Given the description of an element on the screen output the (x, y) to click on. 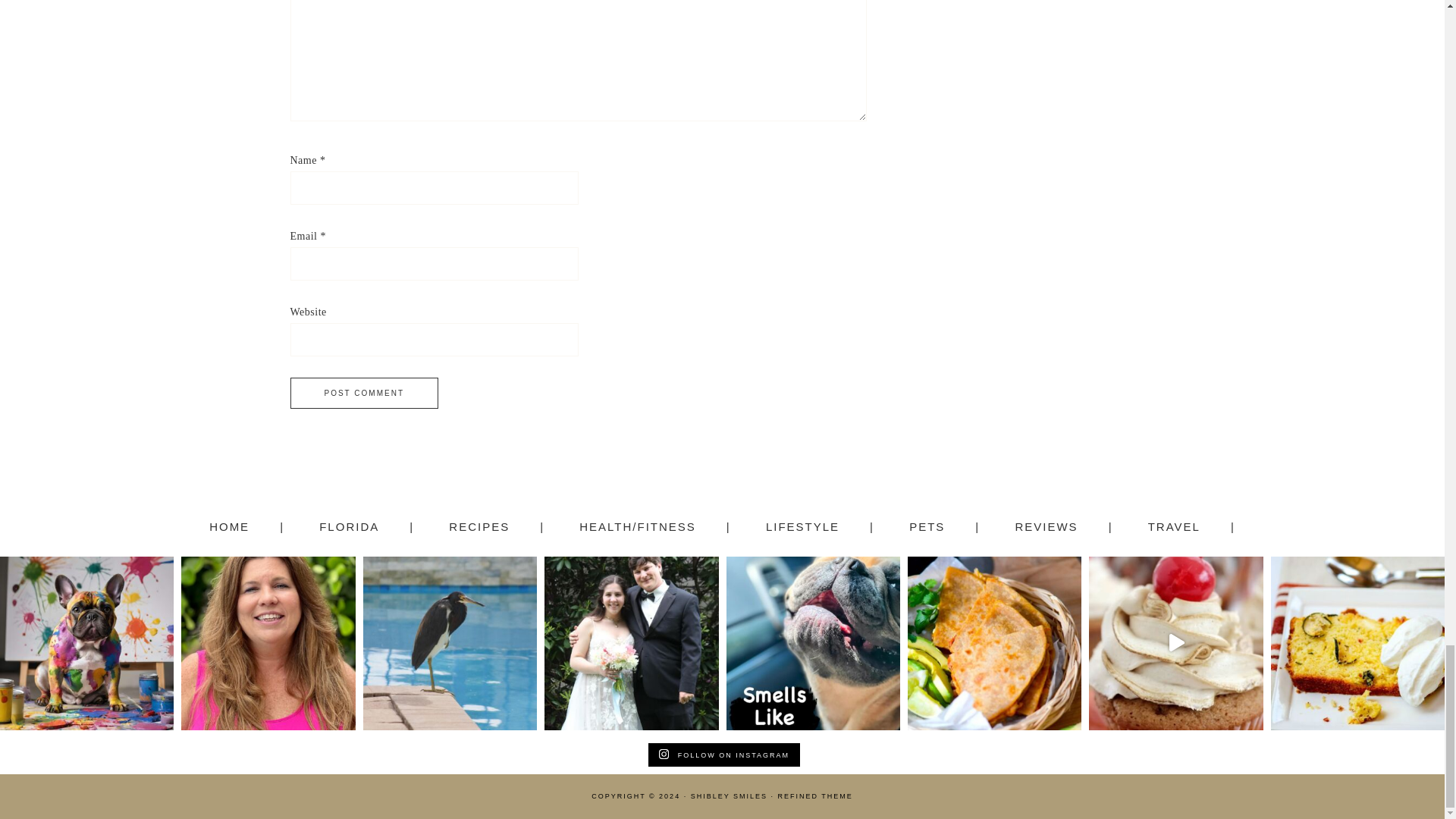
Post Comment (363, 392)
